Given the description of an element on the screen output the (x, y) to click on. 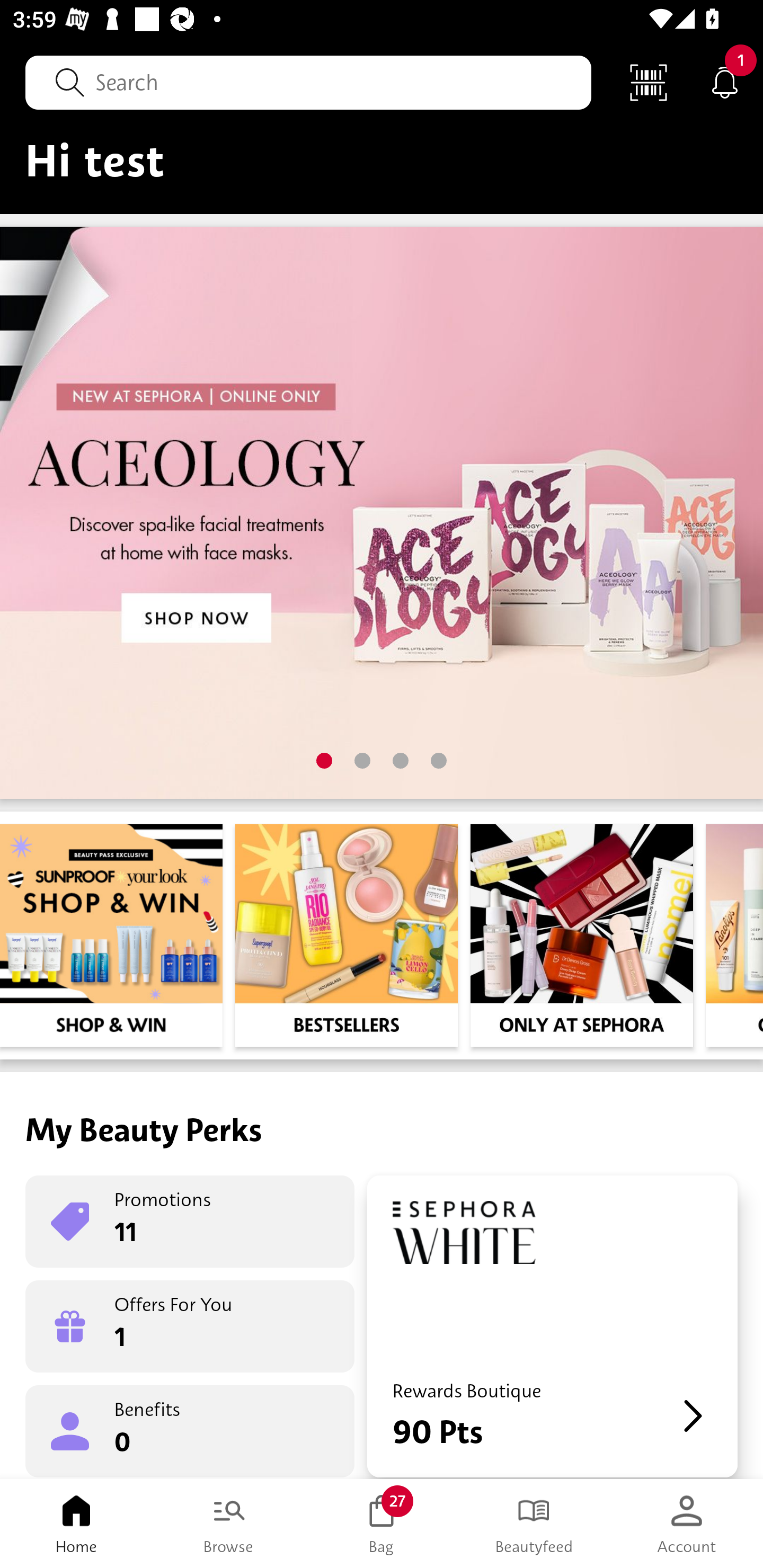
Scan Code (648, 81)
Notifications (724, 81)
Search (308, 81)
Promotions 11 (189, 1221)
Rewards Boutique 90 Pts (552, 1326)
Offers For You 1 (189, 1326)
Benefits 0 (189, 1430)
Browse (228, 1523)
Bag 27 Bag (381, 1523)
Beautyfeed (533, 1523)
Account (686, 1523)
